Given the description of an element on the screen output the (x, y) to click on. 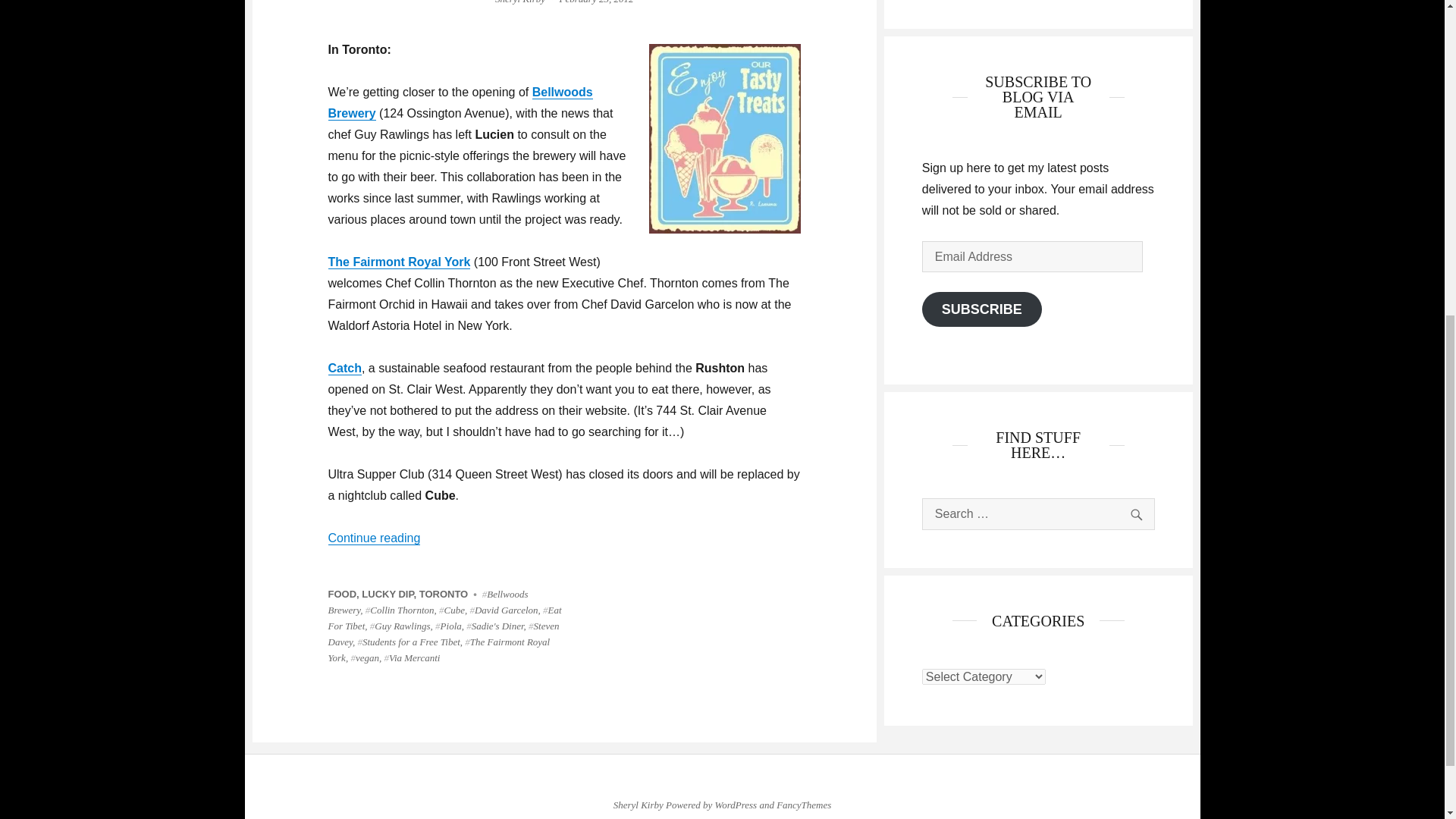
Students for a Free Tibet (408, 641)
vegan (364, 657)
LUCKY DIP (387, 593)
Steven Davey (443, 633)
FOOD (341, 593)
The Fairmont Royal York (398, 261)
TORONTO (443, 593)
Collin Thornton (399, 609)
Piola (448, 625)
Catch (344, 367)
The Fairmont Royal York (438, 649)
SUBSCRIBE (981, 308)
Via Mercanti (411, 657)
Sadie's Diner (493, 625)
Cube (451, 609)
